Given the description of an element on the screen output the (x, y) to click on. 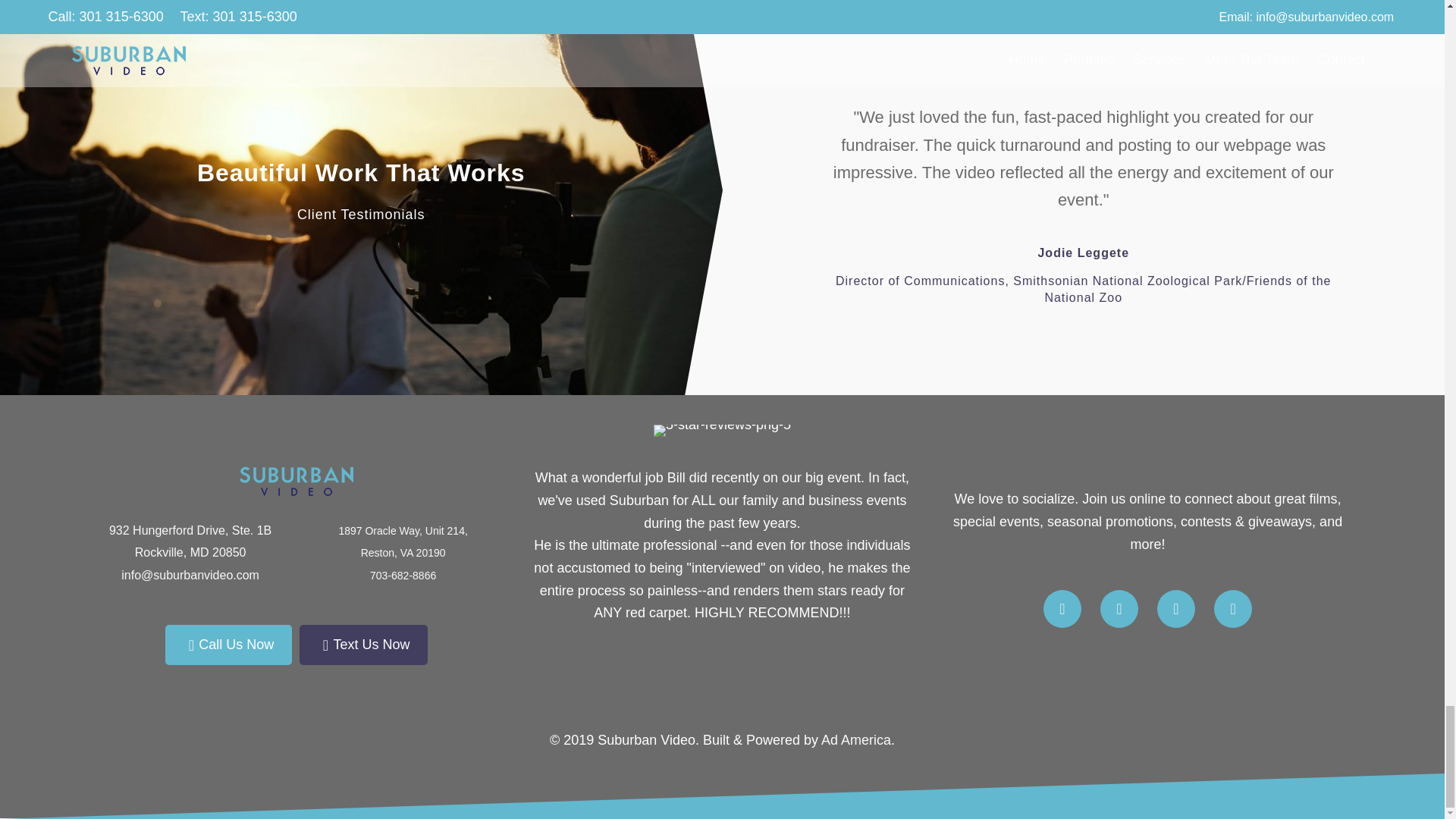
footer-logo (296, 481)
5-star-reviews-png-5 (721, 430)
Facebook (1176, 608)
Instagram (1233, 608)
Twitter (1119, 608)
YouTube (1062, 608)
